Given the description of an element on the screen output the (x, y) to click on. 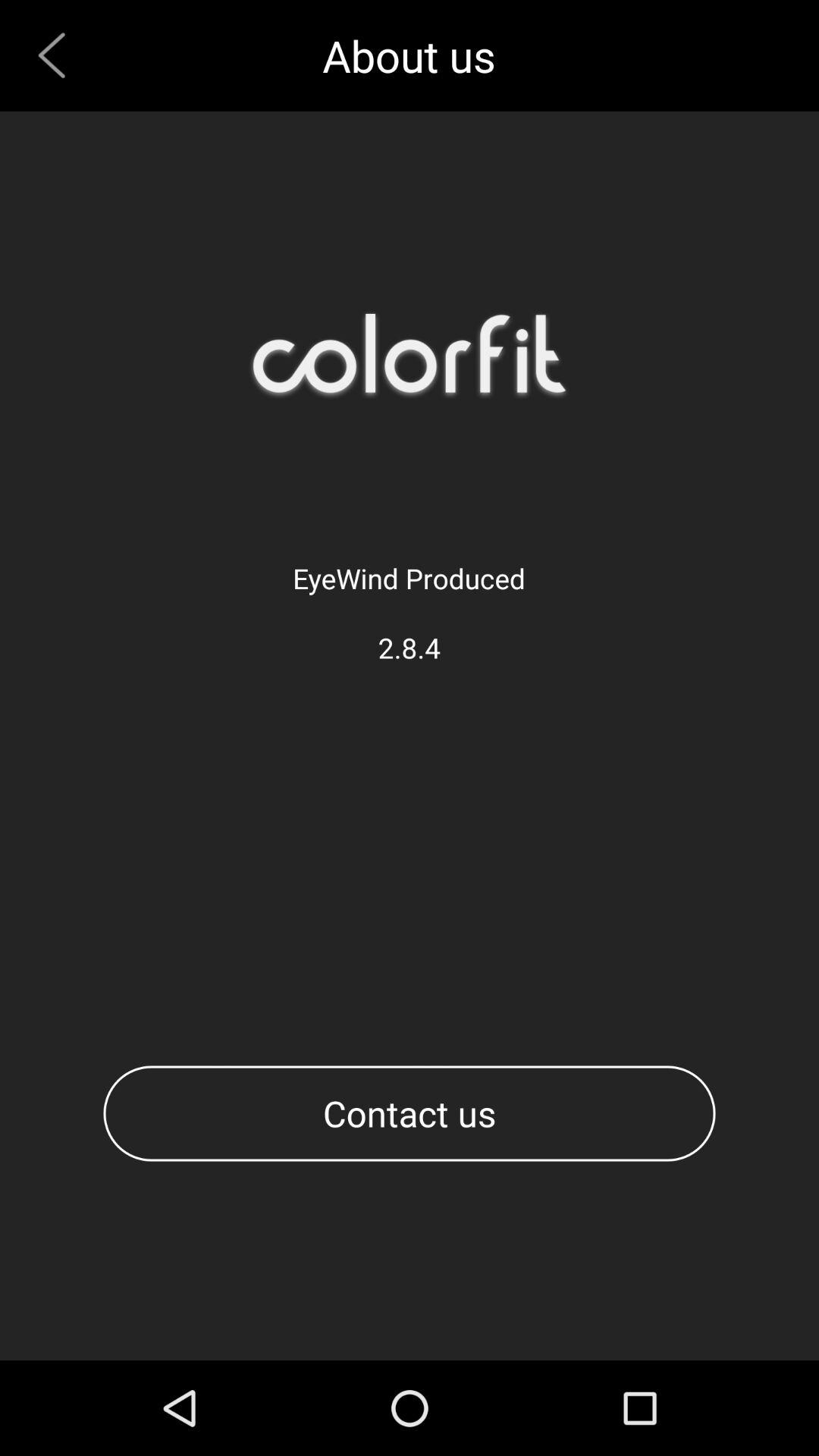
click item below 2.8.4 icon (409, 1113)
